Given the description of an element on the screen output the (x, y) to click on. 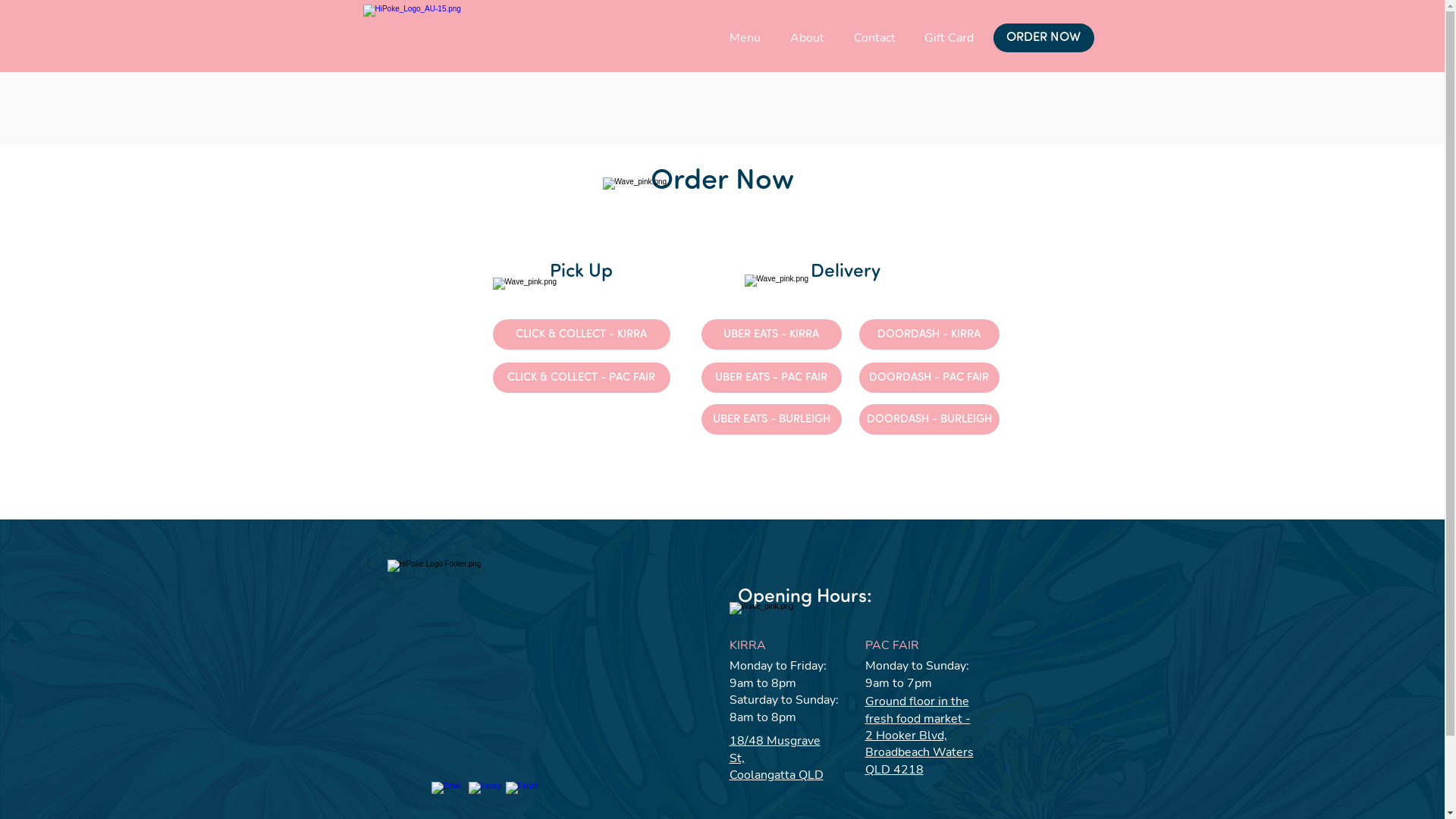
CLICK & COLLECT - KIRRA Element type: text (581, 334)
DOORDASH - KIRRA Element type: text (928, 334)
CLICK & COLLECT - PAC FAIR Element type: text (581, 377)
Contact Element type: text (873, 37)
DOORDASH - BURLEIGH Element type: text (928, 419)
UBER EATS - KIRRA Element type: text (770, 334)
ORDER NOW Element type: text (1043, 37)
UBER EATS - PAC FAIR Element type: text (770, 377)
18/48 Musgrave St,
Coolangatta QLD Element type: text (776, 757)
DOORDASH - PAC FAIR Element type: text (928, 377)
UBER EATS - BURLEIGH Element type: text (770, 419)
Gift Card Element type: text (949, 37)
About Element type: text (806, 37)
Menu Element type: text (744, 37)
